Given the description of an element on the screen output the (x, y) to click on. 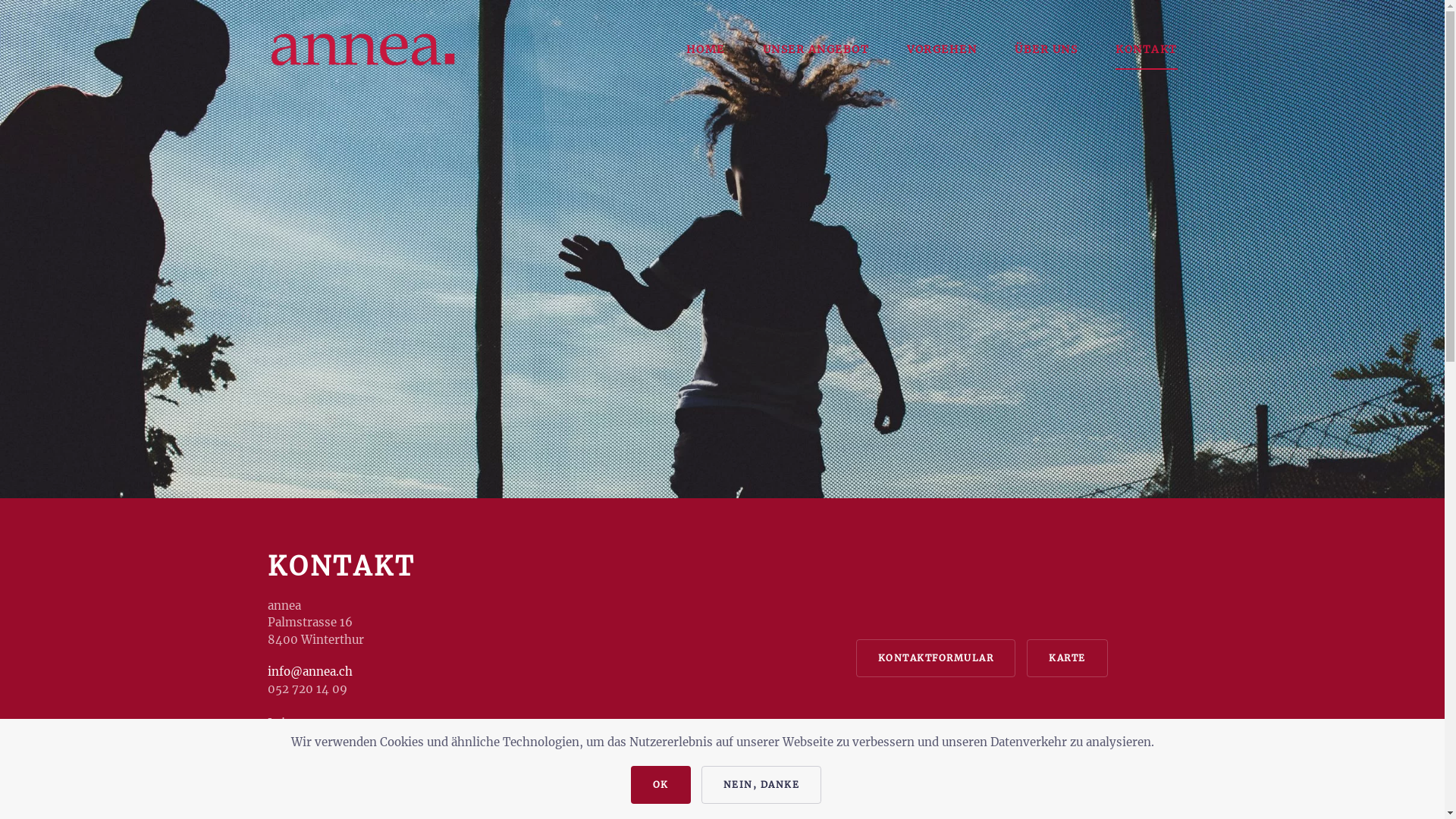
UNSER ANGEBOT Element type: text (815, 49)
stefano.amendola@annea.ch Element type: text (347, 756)
OK Element type: text (660, 784)
KONTAKTFORMULAR Element type: text (936, 658)
KARTE Element type: text (1066, 658)
VORGEHEN Element type: text (941, 49)
KONTAKT Element type: text (1146, 49)
NEIN, DANKE Element type: text (761, 784)
HOME Element type: text (704, 49)
info@annea.ch Element type: text (308, 671)
